Given the description of an element on the screen output the (x, y) to click on. 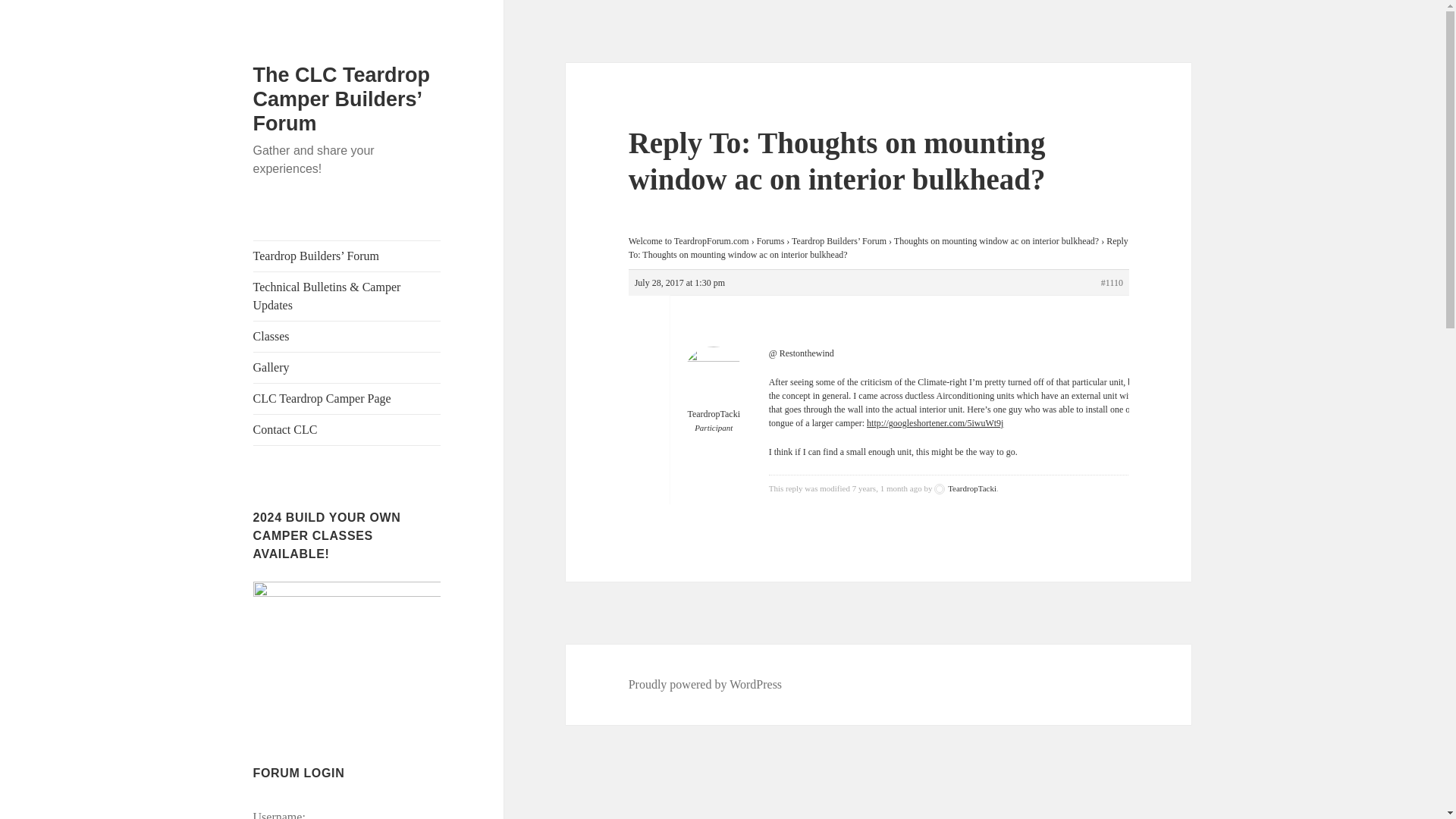
Classes (347, 336)
Forums (770, 240)
Contact CLC (347, 429)
Gallery (347, 367)
CLC Teardrop Camper Page (347, 399)
Welcome to TeardropForum.com (688, 240)
Thoughts on mounting window ac on interior bulkhead? (996, 240)
